Given the description of an element on the screen output the (x, y) to click on. 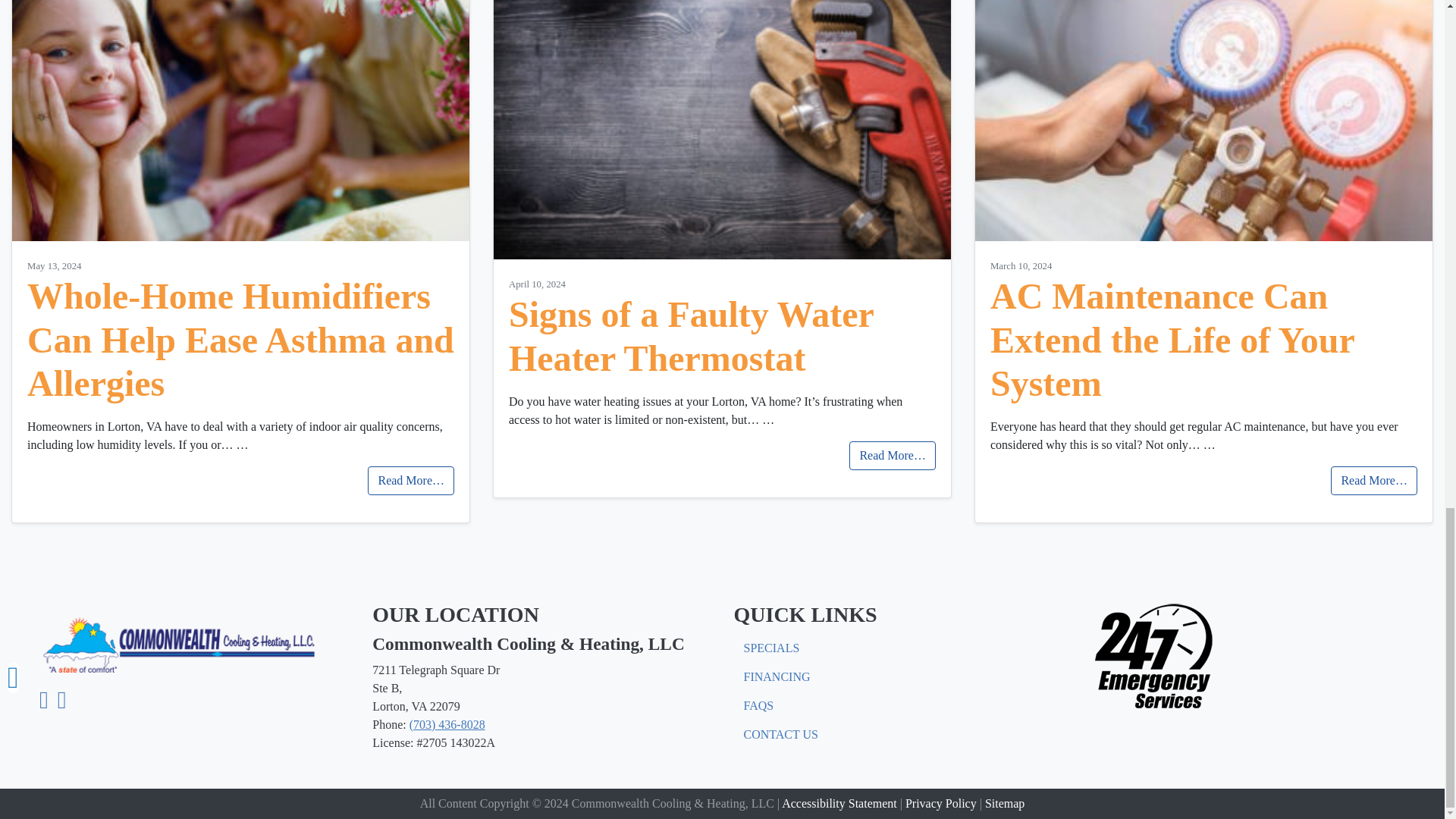
Whole-Home Humidifiers Can Help Ease Asthma and Allergies (240, 339)
